Given the description of an element on the screen output the (x, y) to click on. 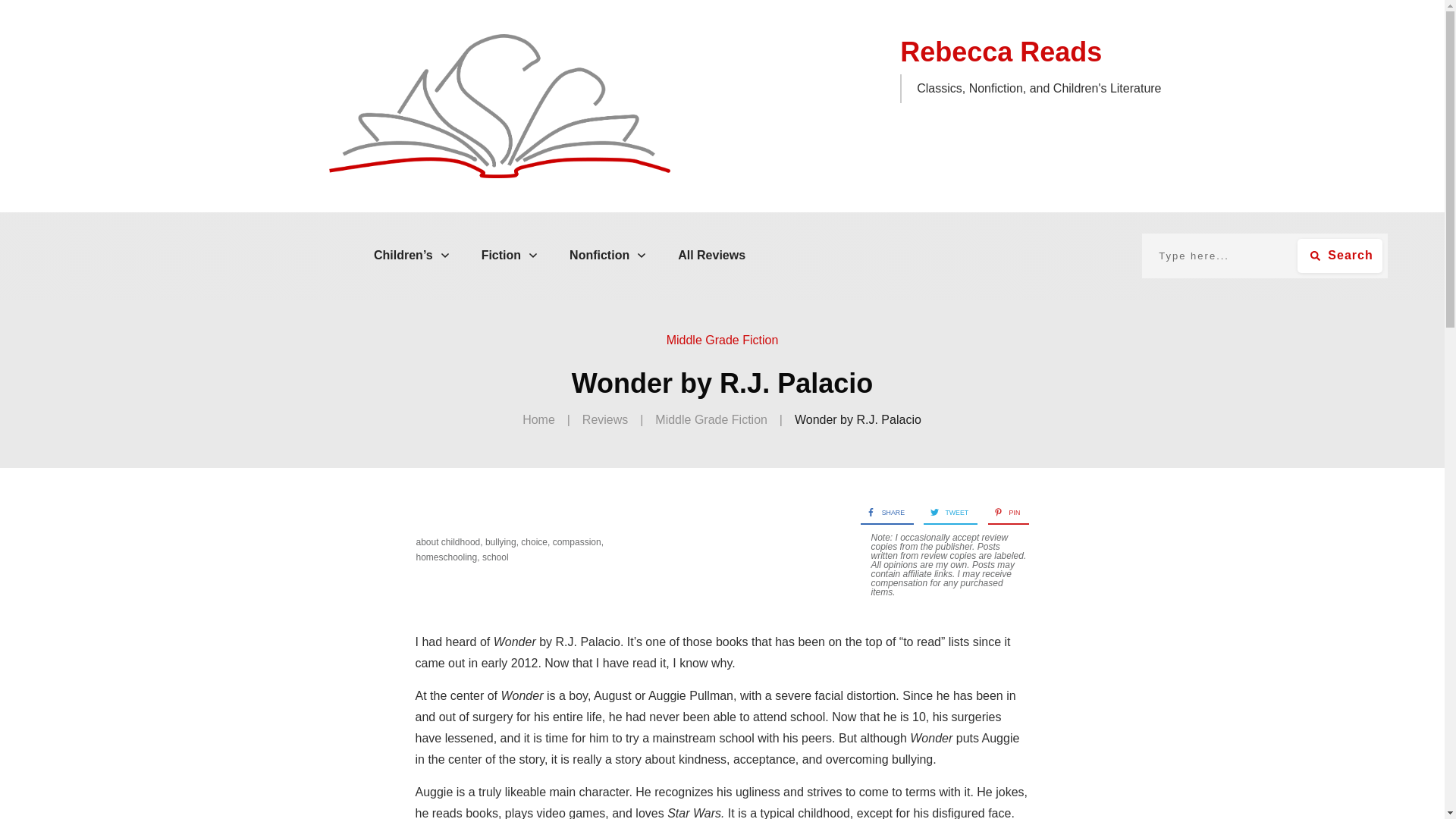
TWEET (945, 512)
about childhood (447, 542)
PIN (1003, 512)
Middle Grade Fiction (711, 420)
Middle Grade Fiction (722, 339)
Search (1339, 255)
school (494, 557)
school (494, 557)
bullying (500, 542)
choice (534, 542)
about childhood (447, 542)
All Reviews (711, 255)
Home (538, 420)
Fiction (509, 255)
Reviews (604, 420)
